Given the description of an element on the screen output the (x, y) to click on. 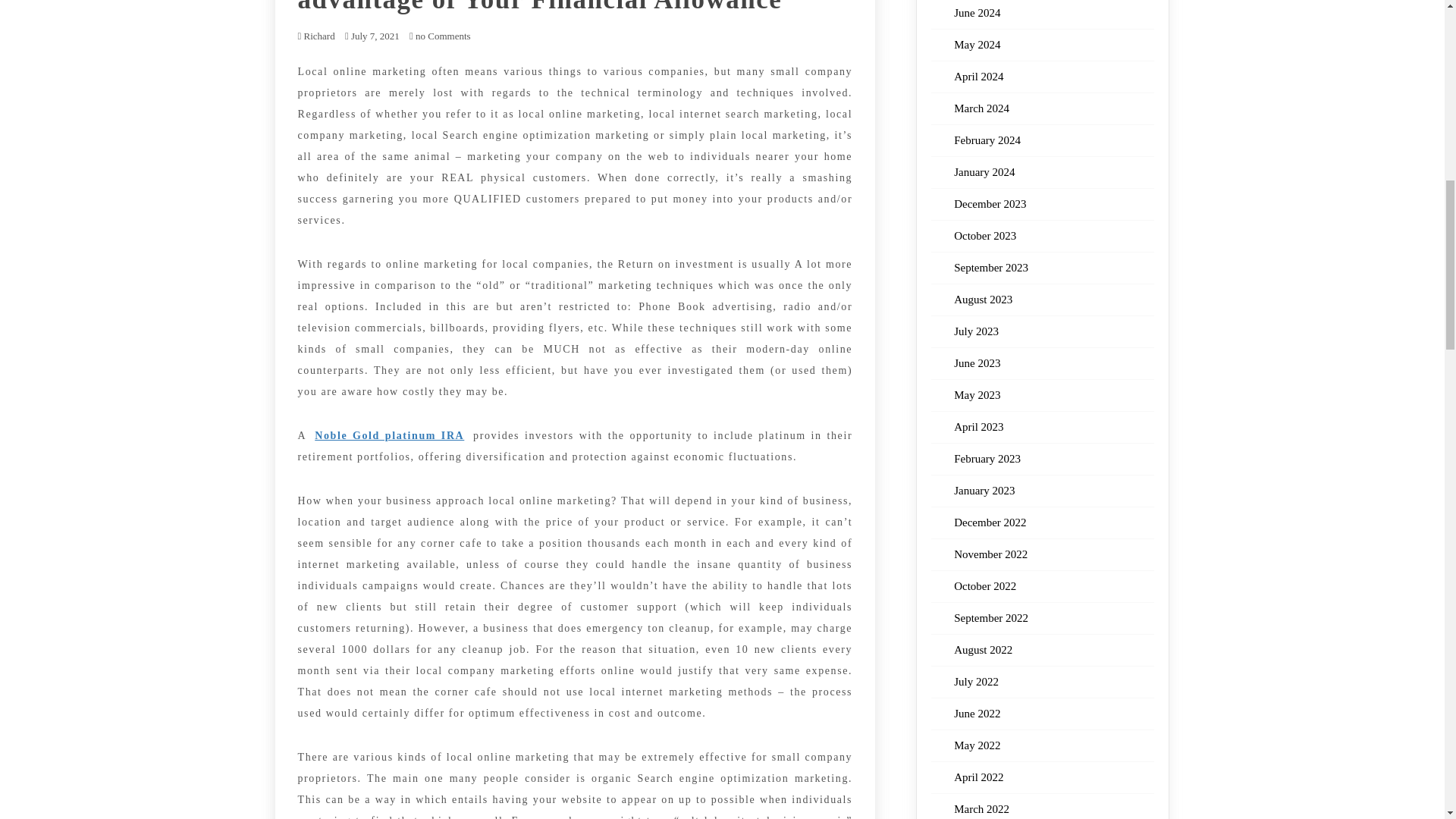
March 2024 (981, 108)
January 2024 (983, 172)
August 2023 (982, 299)
Noble Gold platinum IRA (389, 435)
no Comments (439, 35)
September 2023 (990, 267)
July 7, 2021 (374, 35)
June 2024 (976, 12)
July 2023 (975, 331)
April 2024 (978, 76)
